Given the description of an element on the screen output the (x, y) to click on. 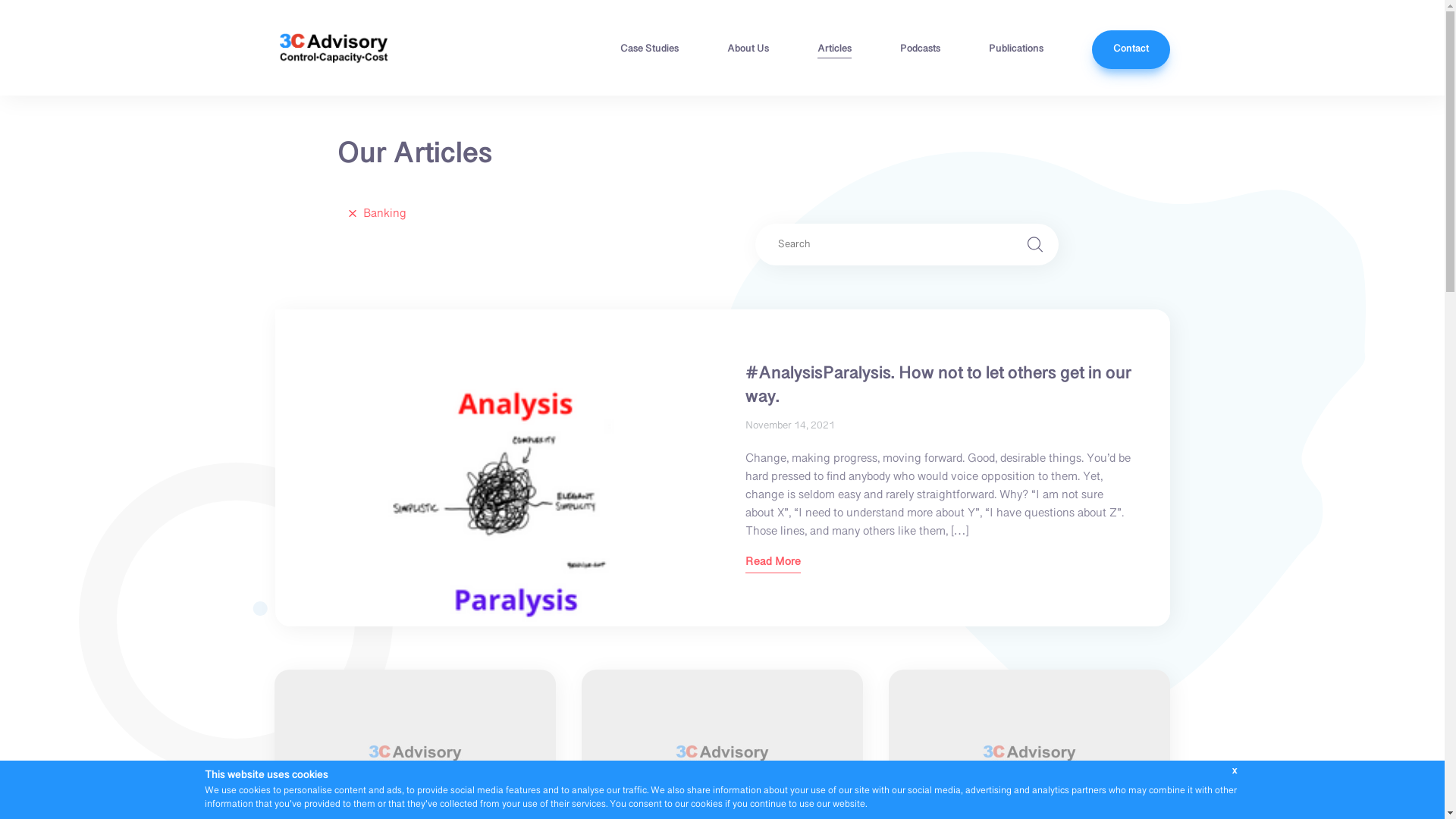
Read More Element type: text (772, 564)
Case Studies Element type: text (649, 50)
Publications Element type: text (1015, 50)
#AnalysisParalysis. How not to let others get in our way. Element type: text (937, 385)
Articles Element type: text (834, 50)
Banking Element type: text (371, 214)
Contact Element type: text (1131, 49)
About Us Element type: text (747, 50)
Search Element type: text (1034, 244)
#AnalysisParalysis. How not to let others get in our way. Element type: hover (497, 467)
Podcasts Element type: text (919, 50)
